Given the description of an element on the screen output the (x, y) to click on. 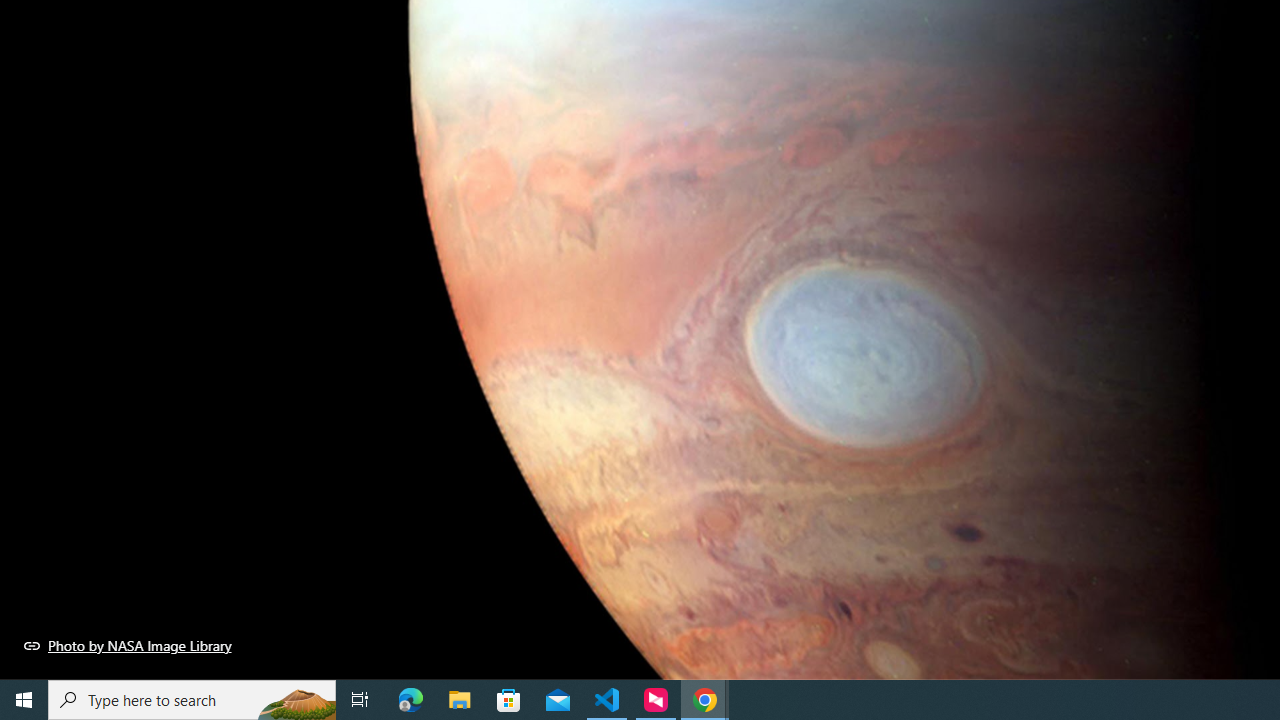
Photo by NASA Image Library (127, 645)
